Given the description of an element on the screen output the (x, y) to click on. 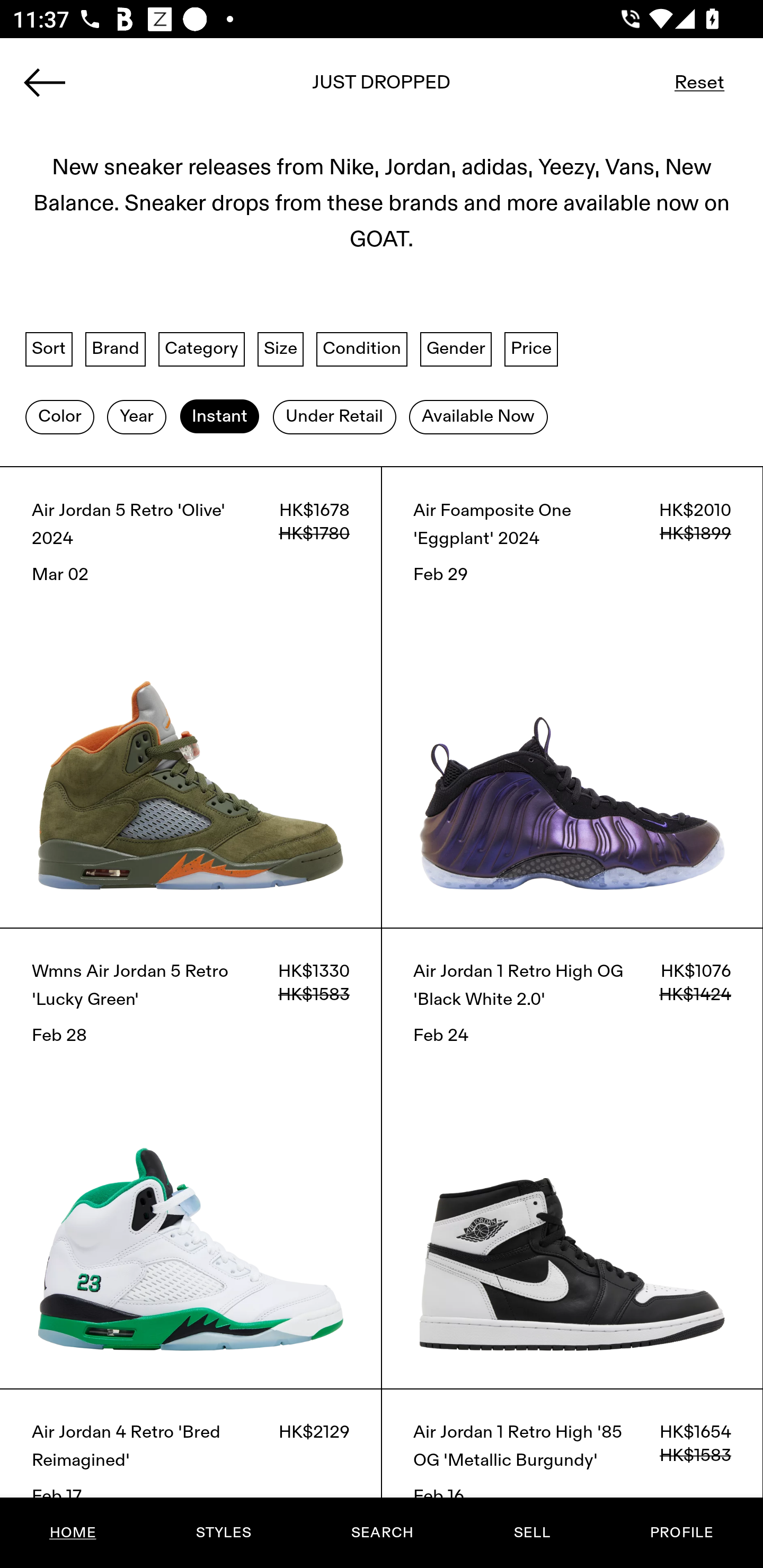
Reset (699, 82)
slippers (381, 88)
Sort (48, 348)
Brand (115, 348)
Category (201, 348)
Size (280, 348)
Condition (361, 348)
Gender (455, 348)
Price (530, 348)
Color (59, 416)
Year (136, 416)
Instant (219, 416)
Under Retail (334, 416)
Available Now (477, 416)
HOME (72, 1532)
STYLES (222, 1532)
SEARCH (381, 1532)
SELL (531, 1532)
PROFILE (681, 1532)
